Given the description of an element on the screen output the (x, y) to click on. 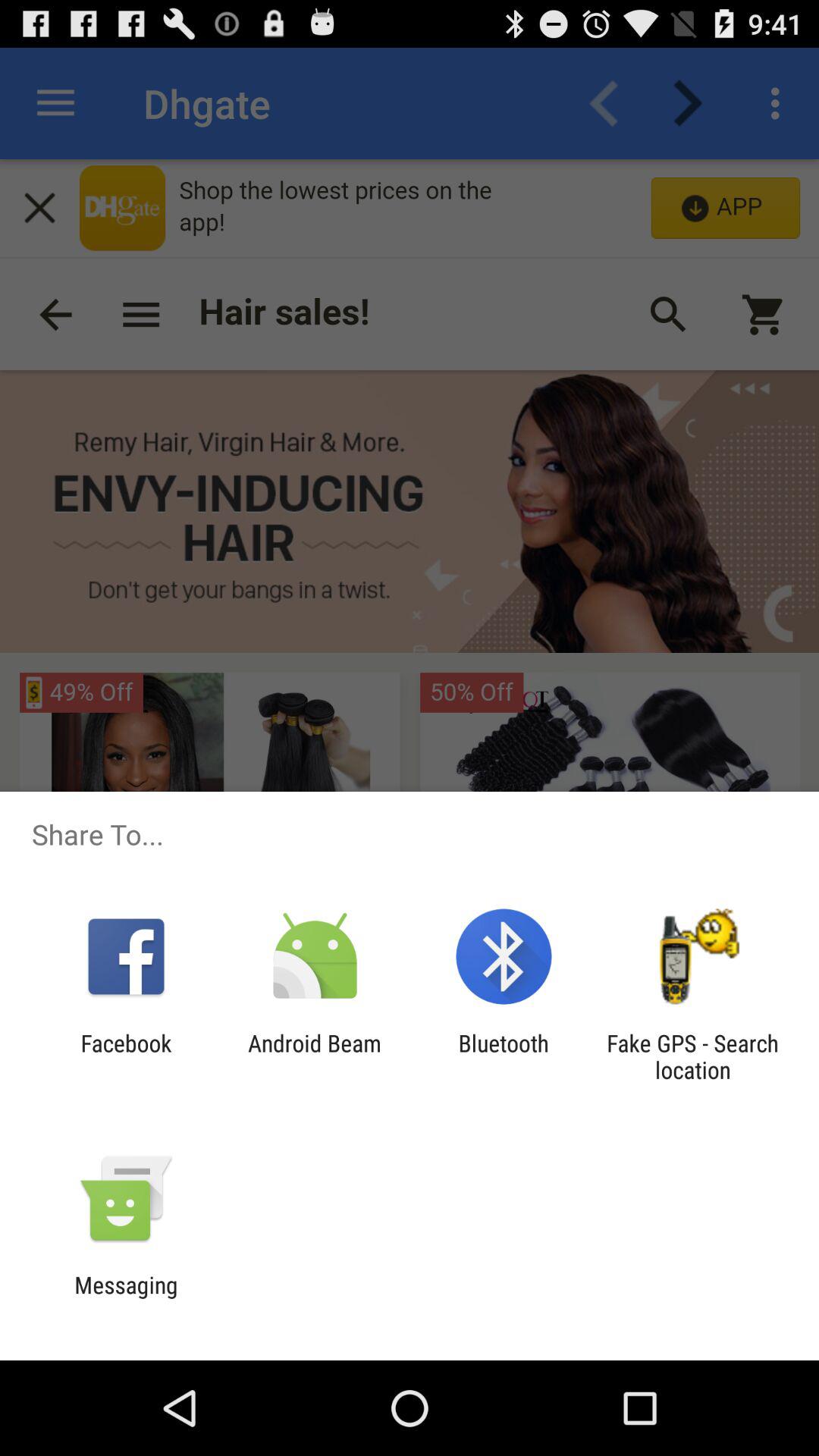
turn on item next to the bluetooth item (314, 1056)
